Given the description of an element on the screen output the (x, y) to click on. 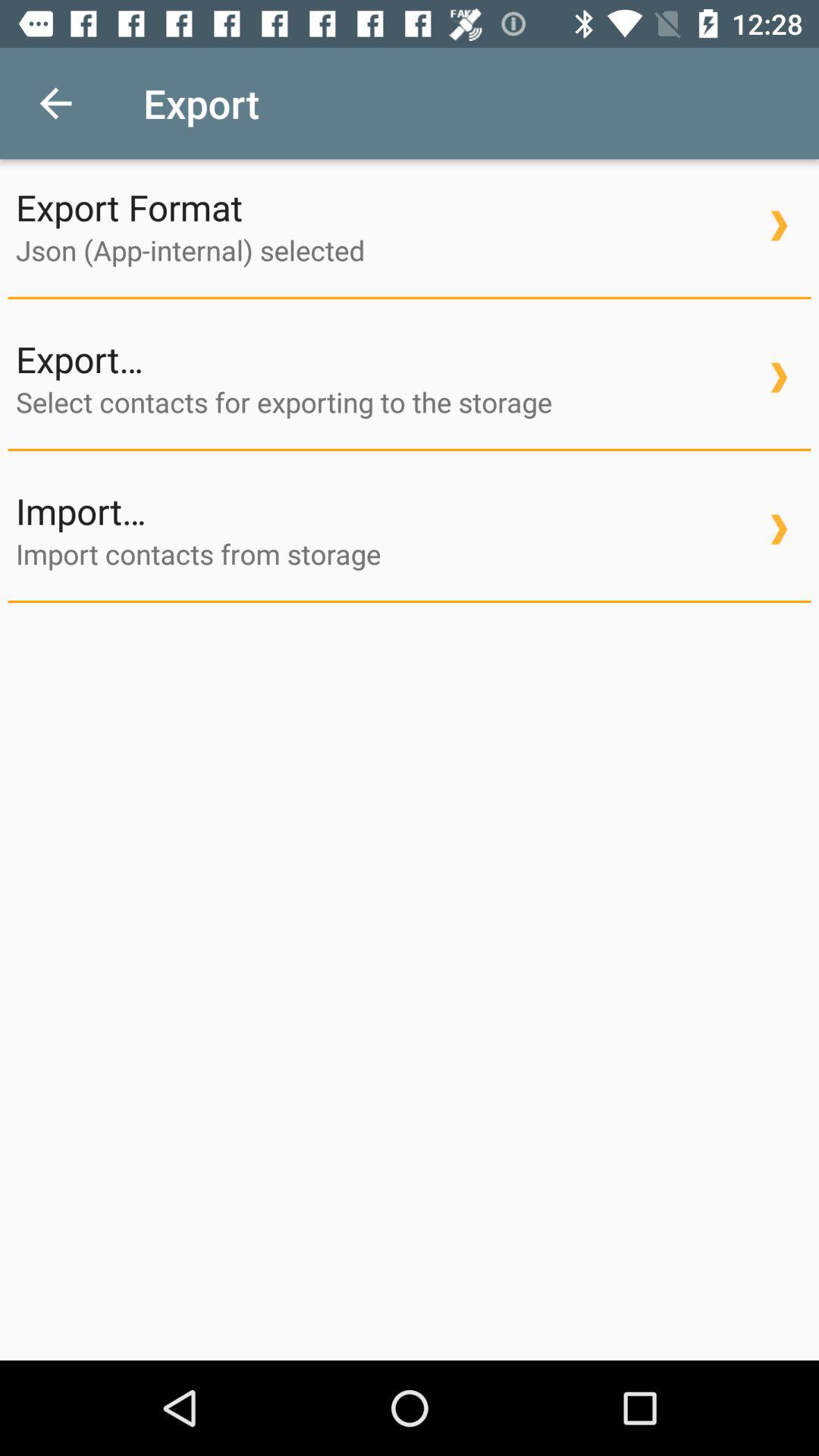
select icon next to export item (55, 103)
